Given the description of an element on the screen output the (x, y) to click on. 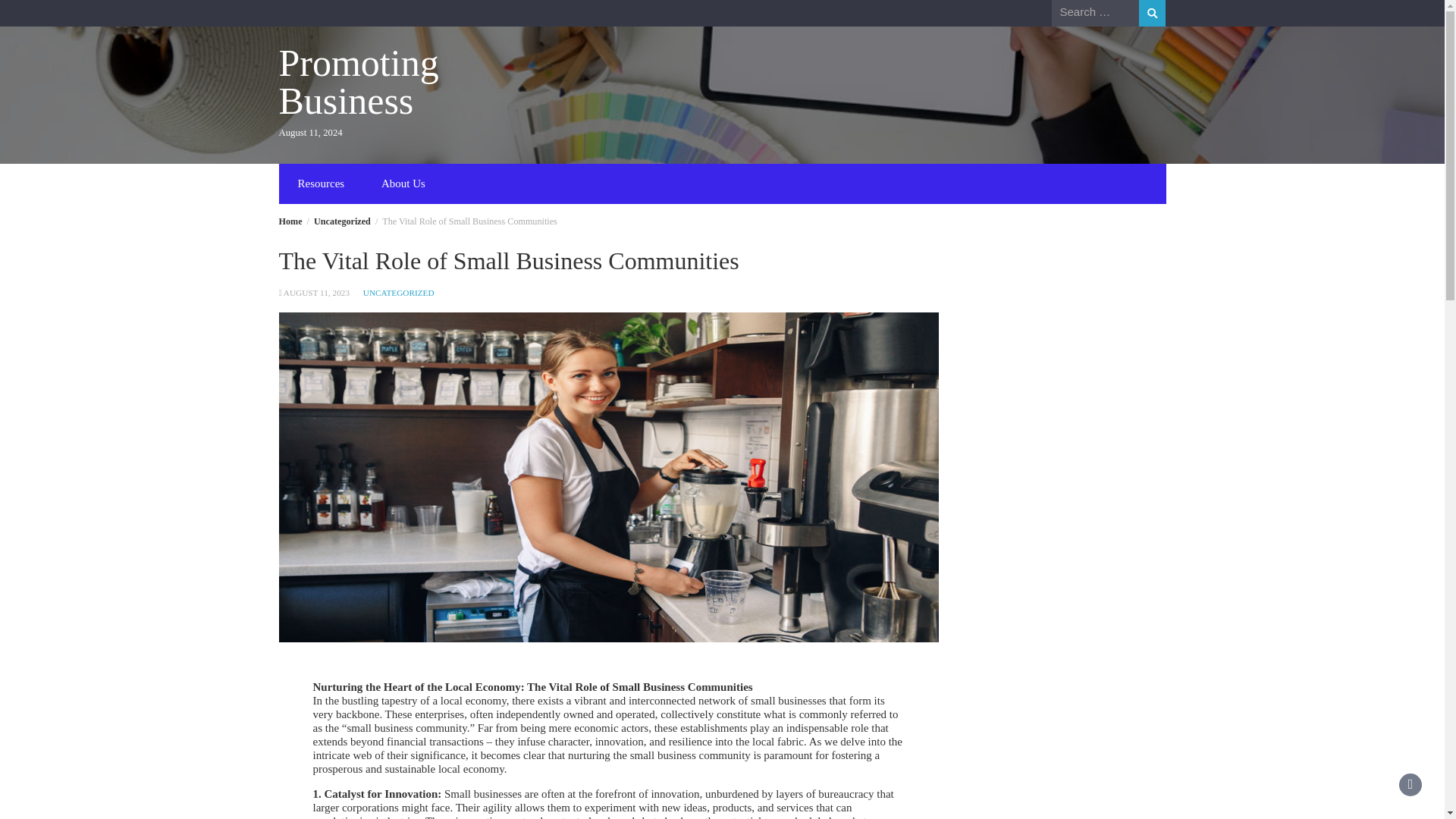
Search for: (1094, 12)
AUGUST 11, 2023 (316, 292)
Search (1152, 13)
UNCATEGORIZED (397, 292)
About Us (403, 183)
Resources (320, 183)
Promoting Business (359, 81)
Search (1152, 13)
Uncategorized (342, 221)
Search (1152, 13)
